Given the description of an element on the screen output the (x, y) to click on. 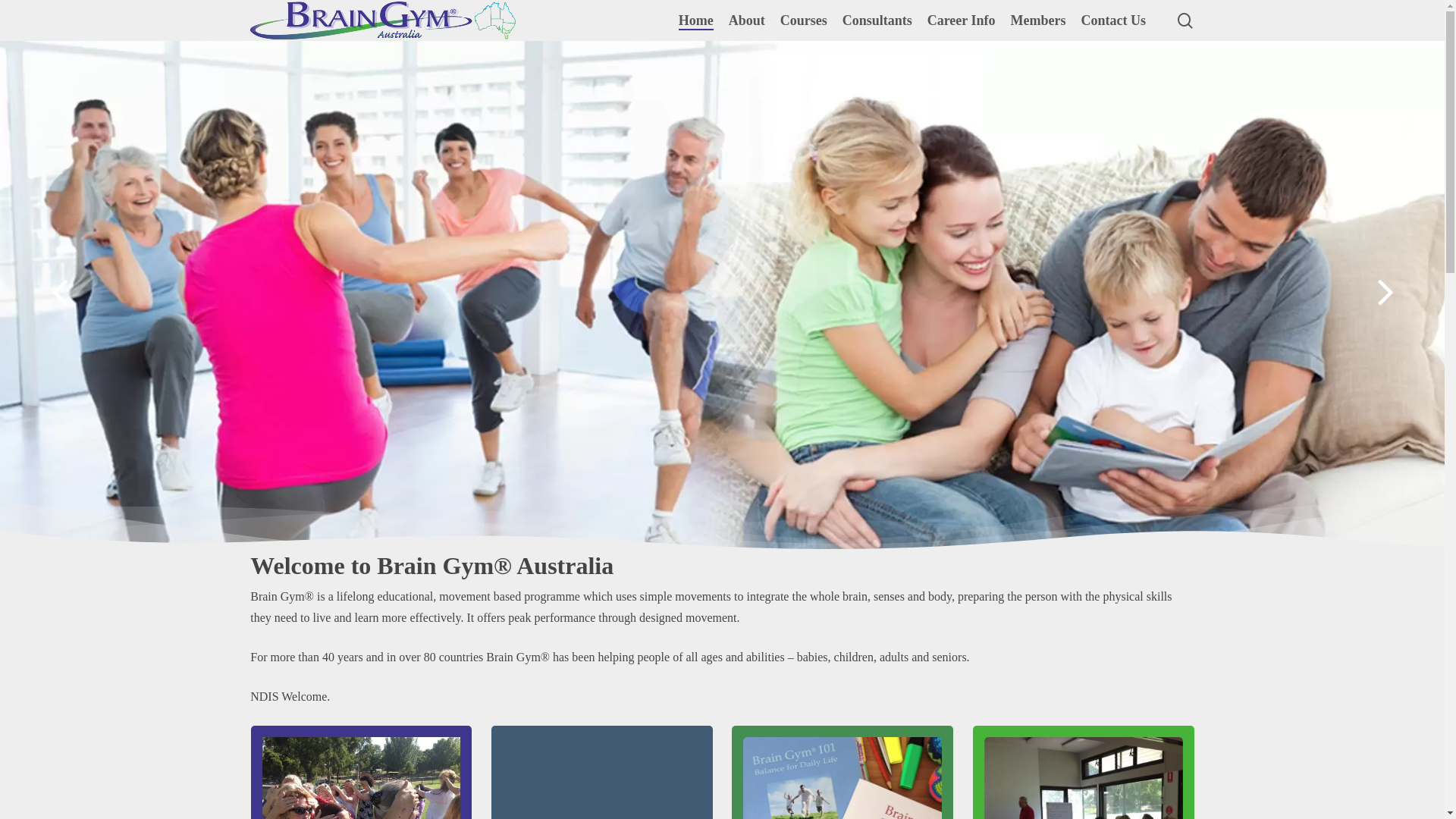
Career Info Element type: text (961, 20)
About Element type: text (746, 20)
Consultants Element type: text (877, 20)
Contact Us Element type: text (1113, 20)
search Element type: text (1185, 20)
Members Element type: text (1038, 20)
Courses Element type: text (803, 20)
Home Element type: text (695, 20)
